Given the description of an element on the screen output the (x, y) to click on. 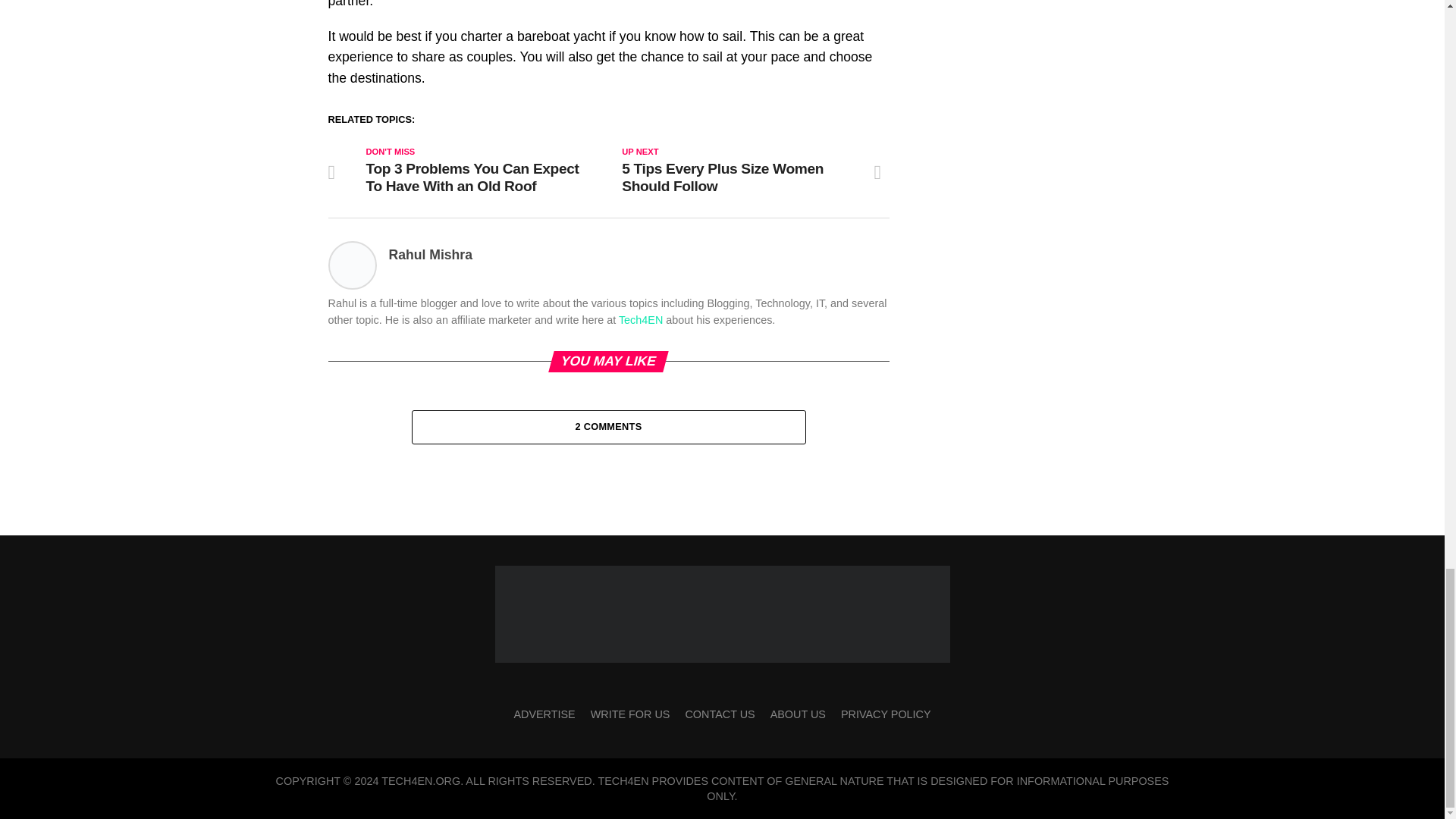
PRIVACY POLICY (886, 714)
Posts by Rahul Mishra (429, 254)
ABOUT US (797, 714)
WRITE FOR US (630, 714)
CONTACT US (719, 714)
Tech4EN (640, 319)
ADVERTISE (544, 714)
Rahul Mishra (429, 254)
